Given the description of an element on the screen output the (x, y) to click on. 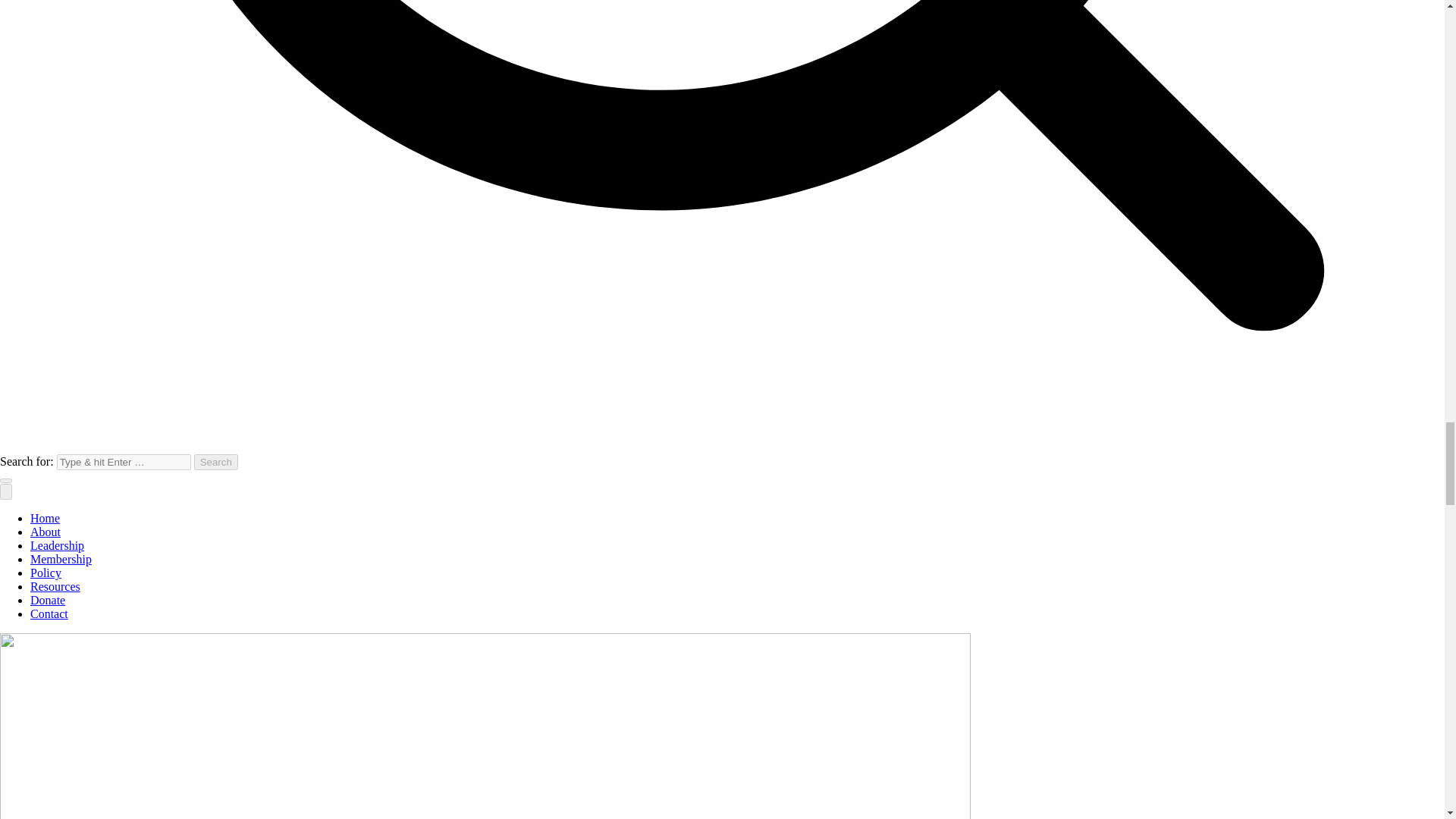
About (45, 531)
Membership (60, 558)
Search (215, 462)
Contact (49, 613)
Search for: (123, 462)
Search (215, 462)
Donate (47, 599)
Search (215, 462)
Policy (45, 572)
Leadership (57, 545)
